Given the description of an element on the screen output the (x, y) to click on. 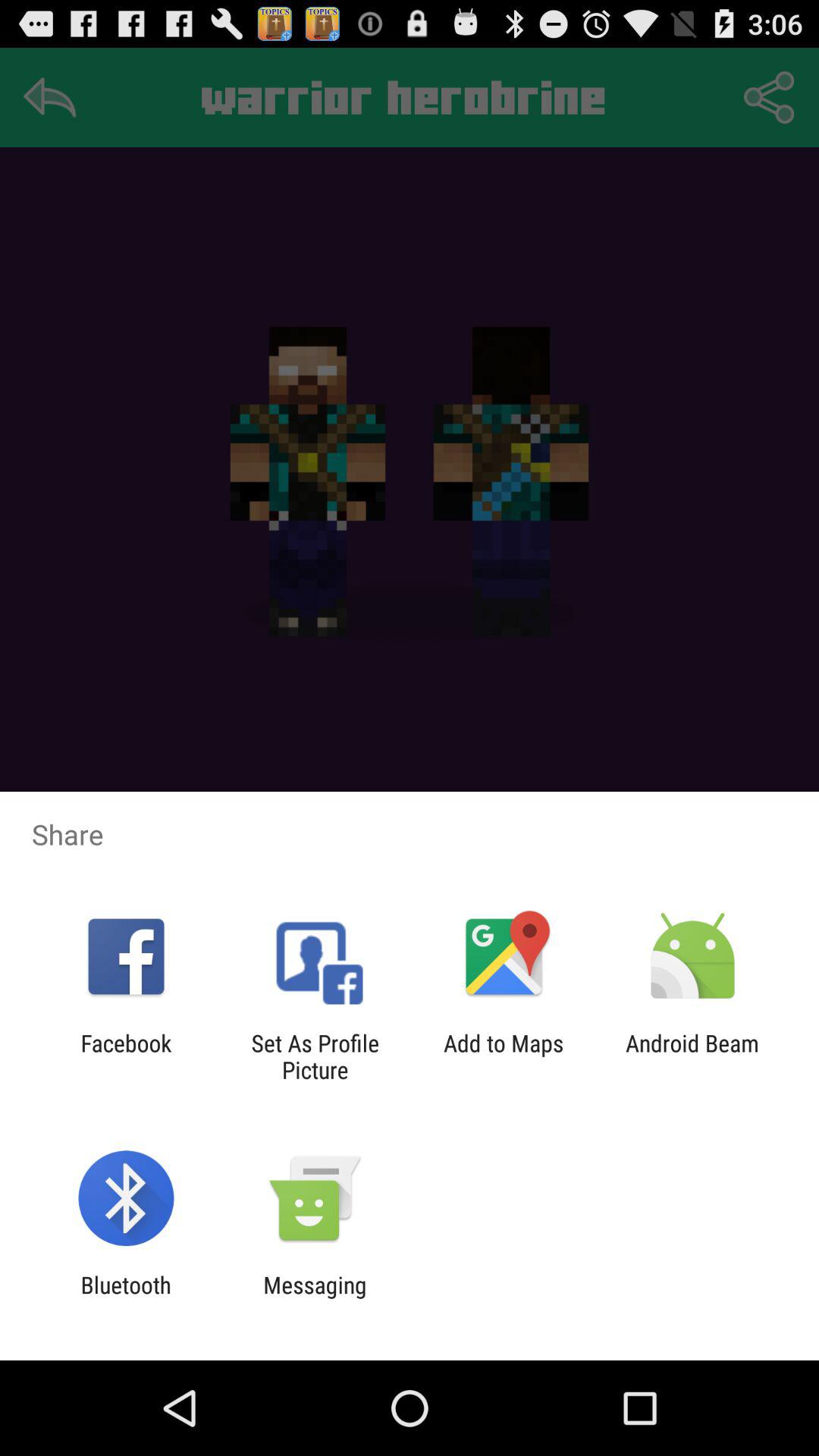
click the icon to the right of the set as profile icon (503, 1056)
